Given the description of an element on the screen output the (x, y) to click on. 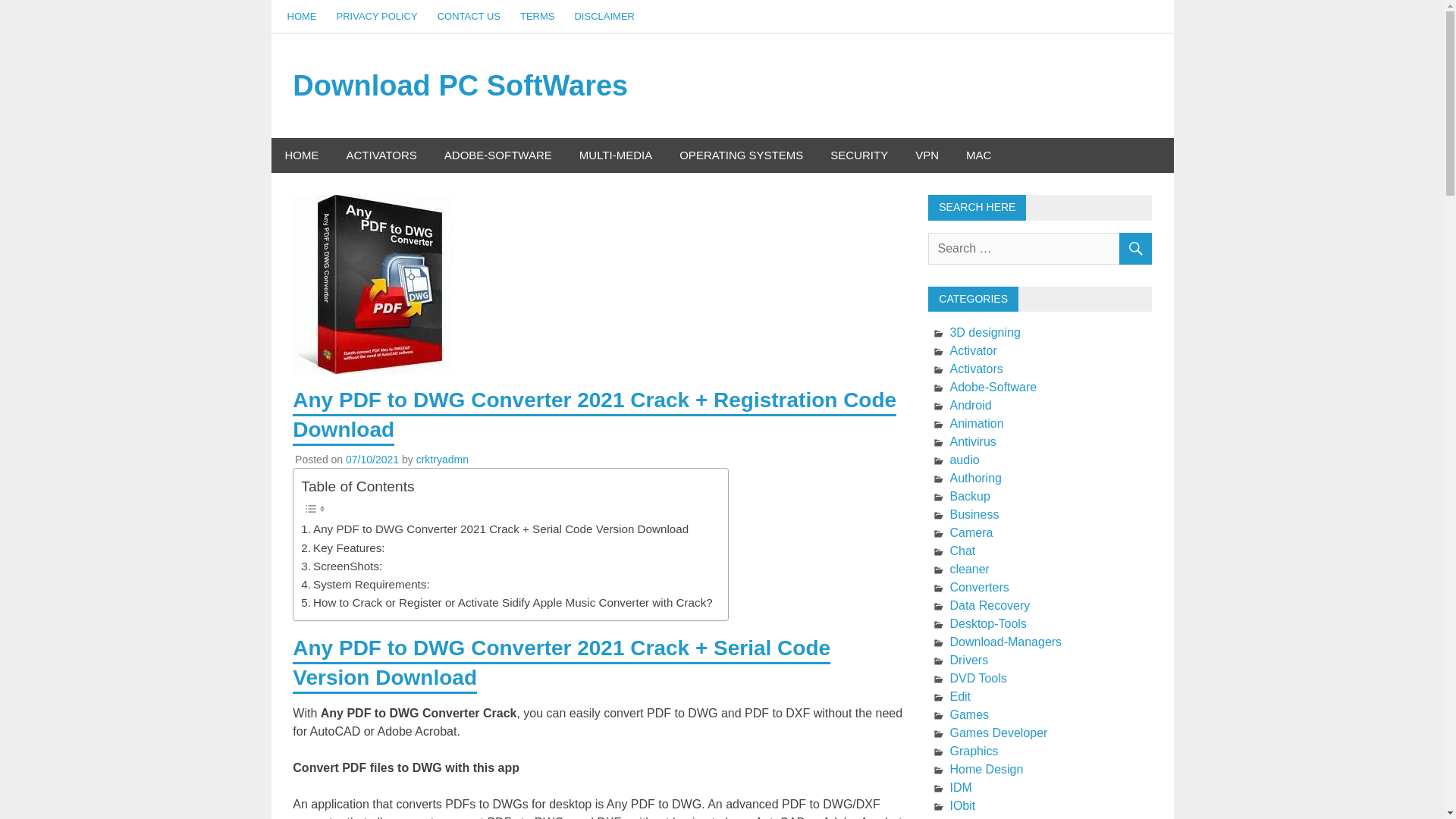
Download PC SoftWares (459, 85)
SECURITY (858, 155)
VPN (926, 155)
MAC (978, 155)
Key Features: (342, 547)
ACTIVATORS (380, 155)
ADOBE-SOFTWARE (498, 155)
TERMS (537, 16)
Key Features: (342, 547)
DISCLAIMER (603, 16)
MULTI-MEDIA (615, 155)
OPERATING SYSTEMS (740, 155)
12:05 pm (372, 459)
ScreenShots: (341, 566)
